Given the description of an element on the screen output the (x, y) to click on. 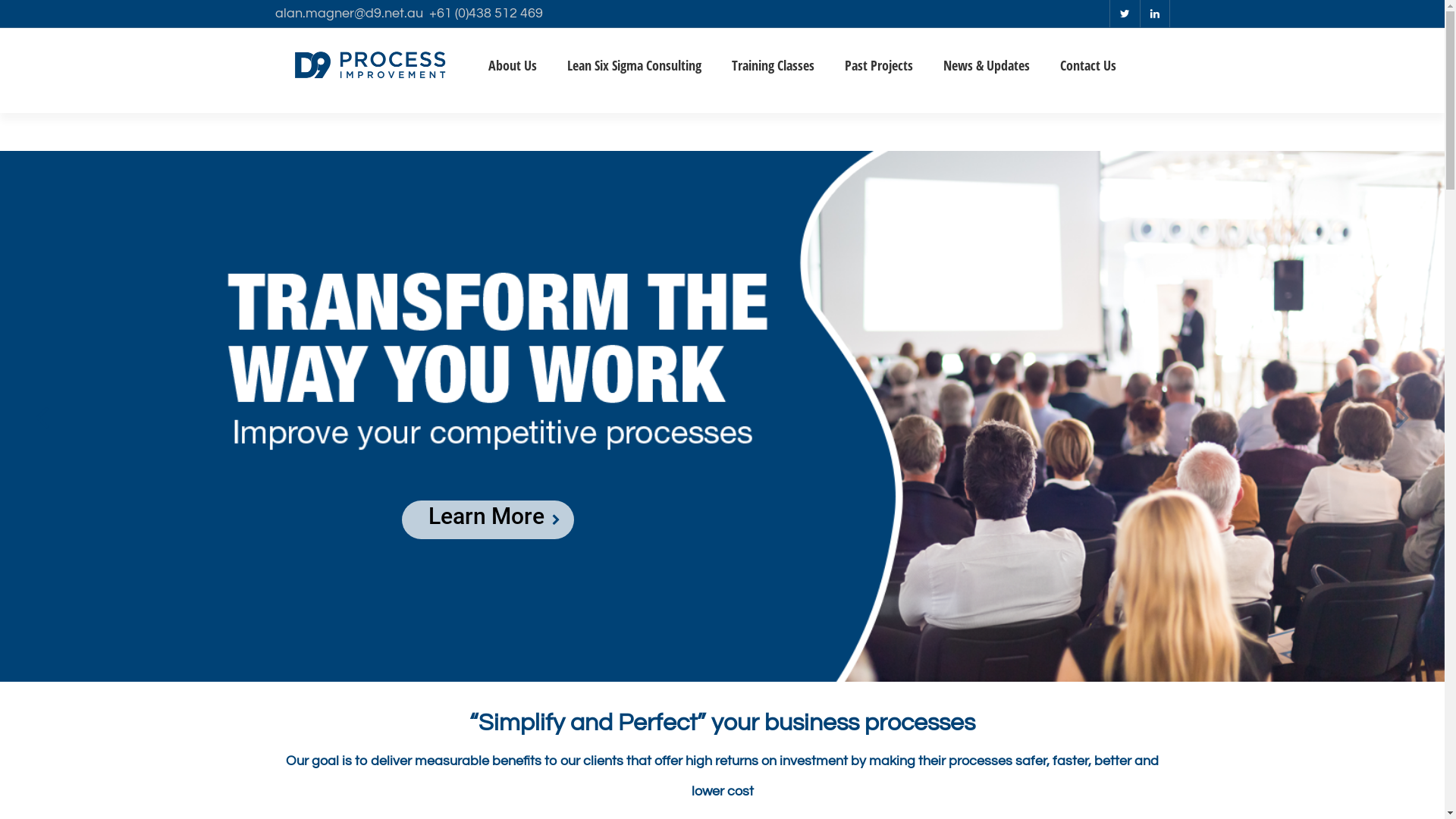
Contact Us Element type: text (1103, 80)
Linkedin Element type: hover (1154, 13)
Twitter Element type: hover (1123, 13)
News & Updates Element type: text (1001, 80)
About Us Element type: text (527, 80)
Past Projects Element type: text (893, 80)
Training Classes Element type: text (787, 80)
Lean Six Sigma Consulting Element type: text (649, 80)
alan.magner@d9.net.au  Element type: text (351, 13)
